Given the description of an element on the screen output the (x, y) to click on. 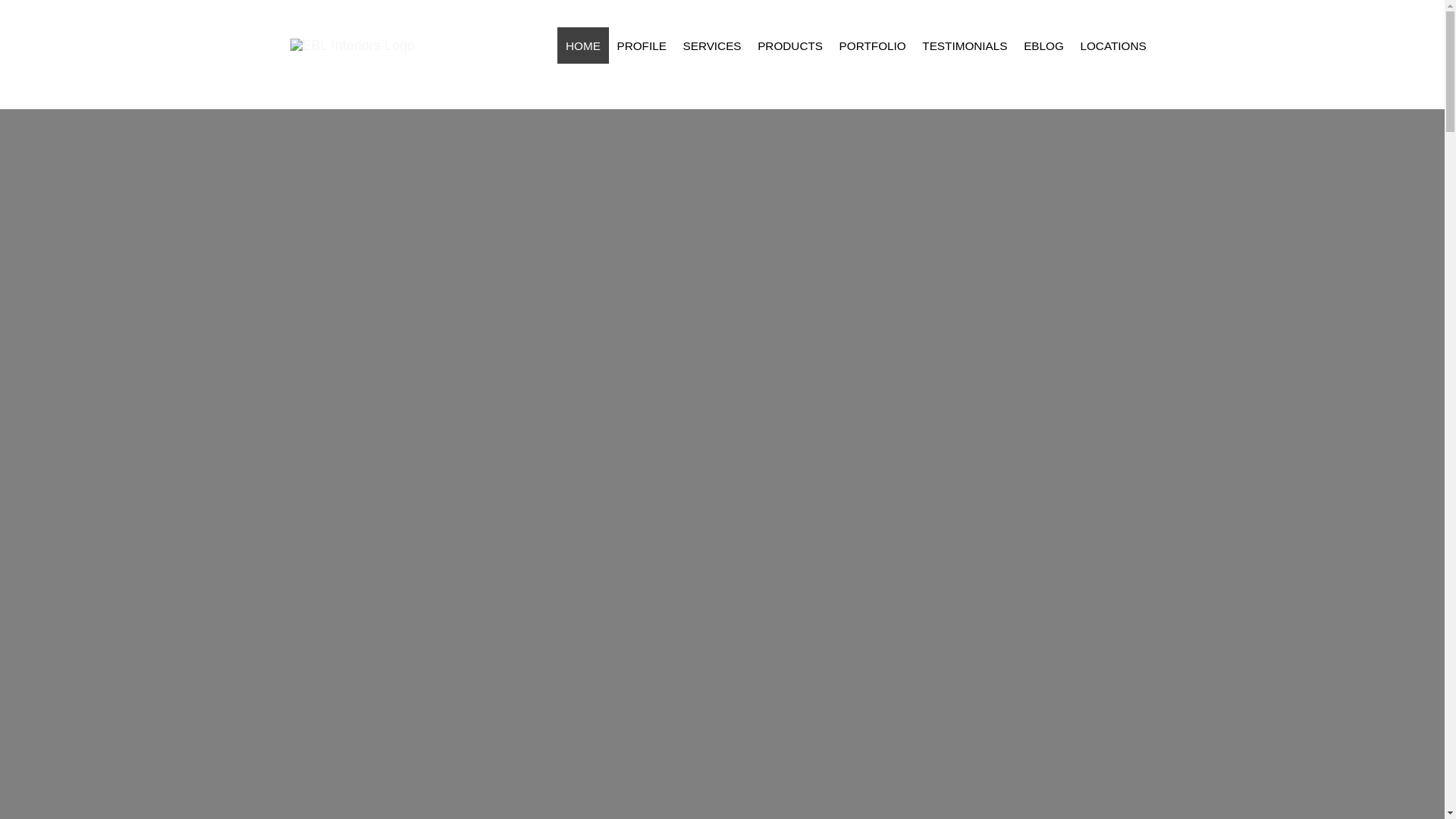
HOME (582, 45)
Home (582, 45)
Locations (1112, 45)
Testimonials (965, 45)
Profile (641, 45)
LOCATIONS (1112, 45)
Portfolio (872, 45)
PROFILE (641, 45)
SERVICES (712, 45)
PORTFOLIO (872, 45)
